Given the description of an element on the screen output the (x, y) to click on. 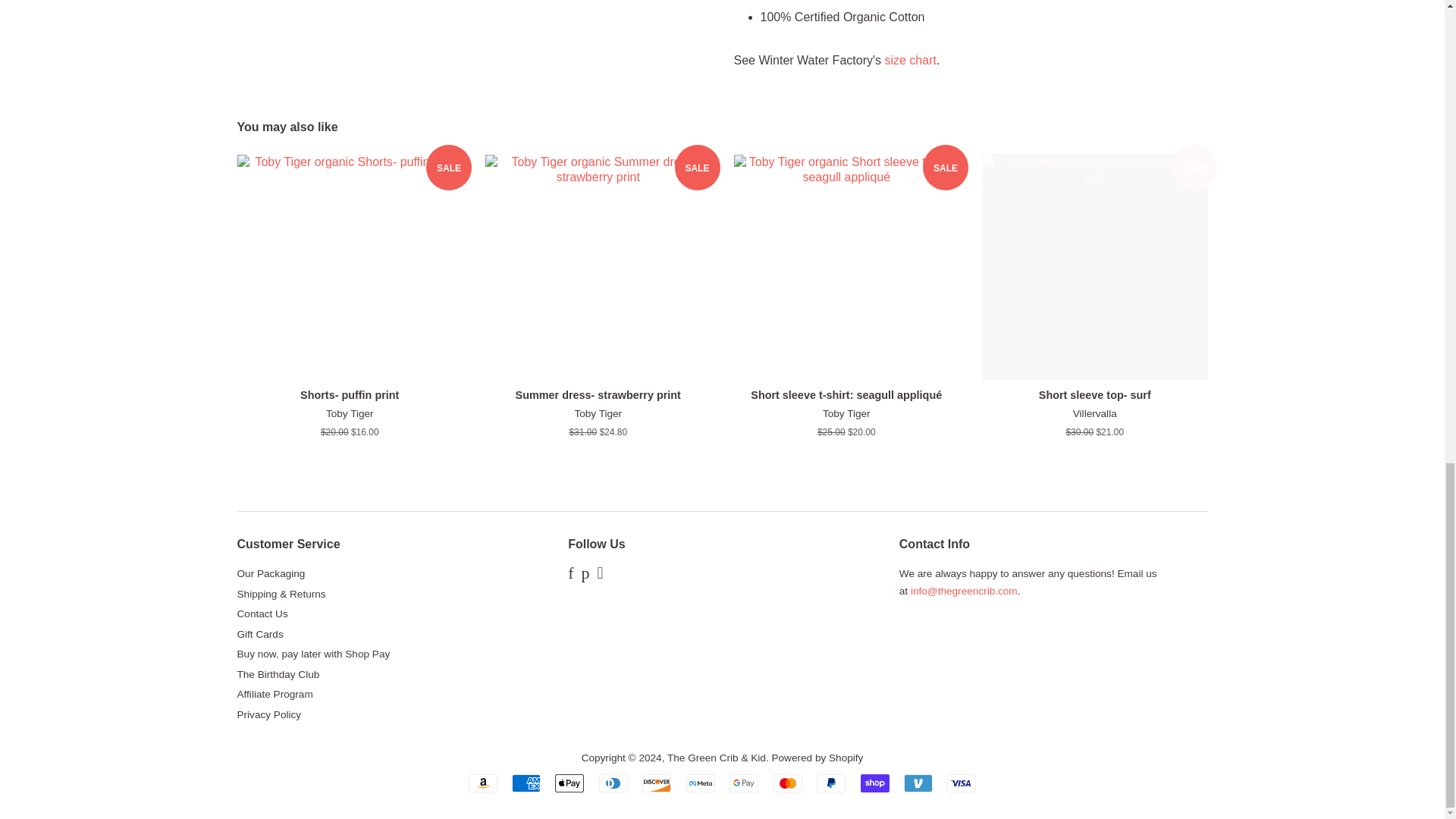
Mastercard (787, 782)
Discover (656, 782)
Diners Club (612, 782)
PayPal (830, 782)
Visa (961, 782)
Shop Pay (874, 782)
American Express (526, 782)
Google Pay (743, 782)
Meta Pay (699, 782)
Winter Water Factory Size Chart (909, 60)
